Given the description of an element on the screen output the (x, y) to click on. 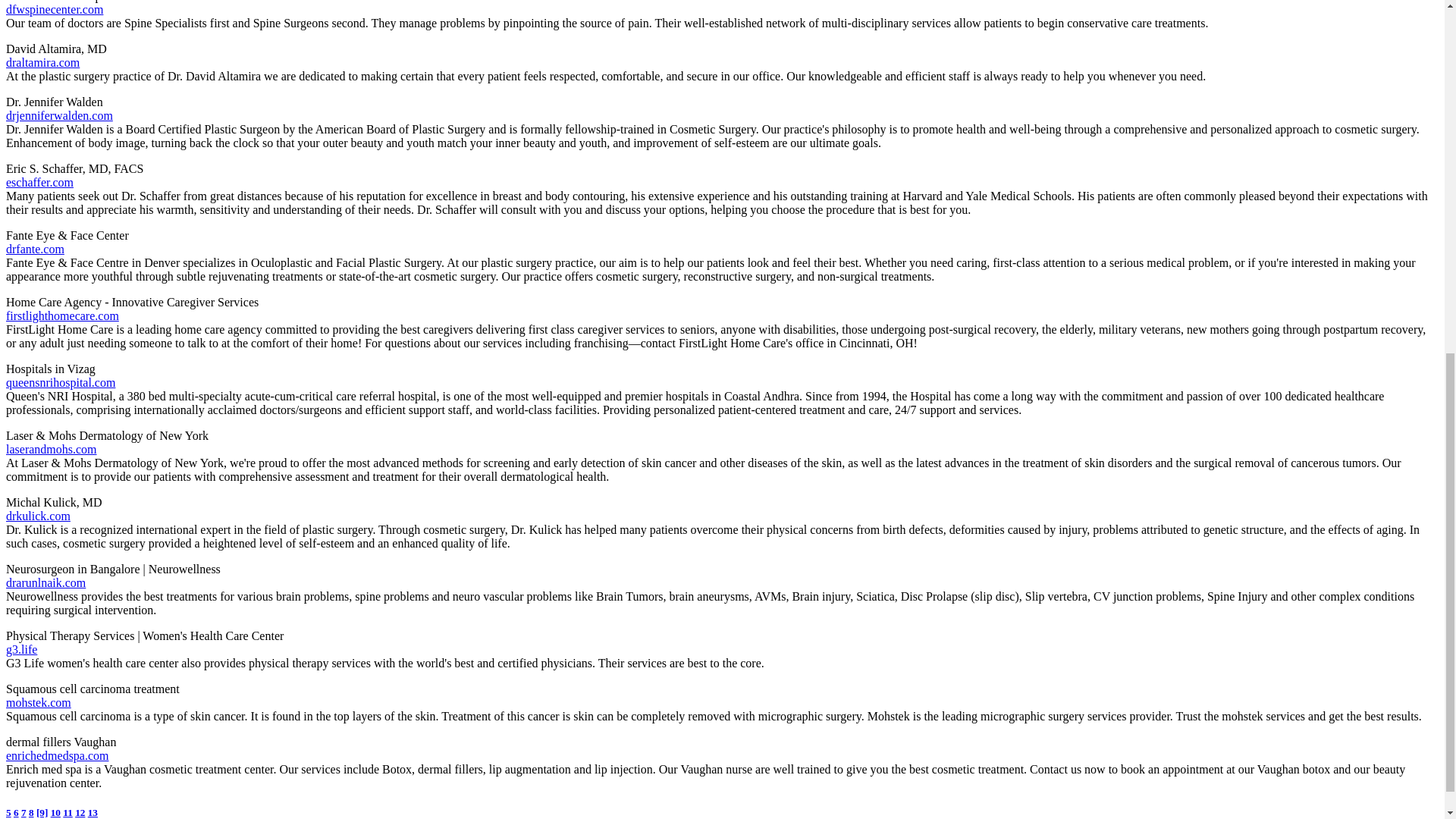
queensnrihospital.com (60, 382)
drjenniferwalden.com (59, 115)
dfwspinecenter.com (54, 9)
draltamira.com (42, 62)
drfante.com (34, 248)
eschaffer.com (39, 182)
mohstek.com (38, 702)
drkulick.com (37, 515)
firstlighthomecare.com (62, 315)
enrichedmedspa.com (57, 755)
